Given the description of an element on the screen output the (x, y) to click on. 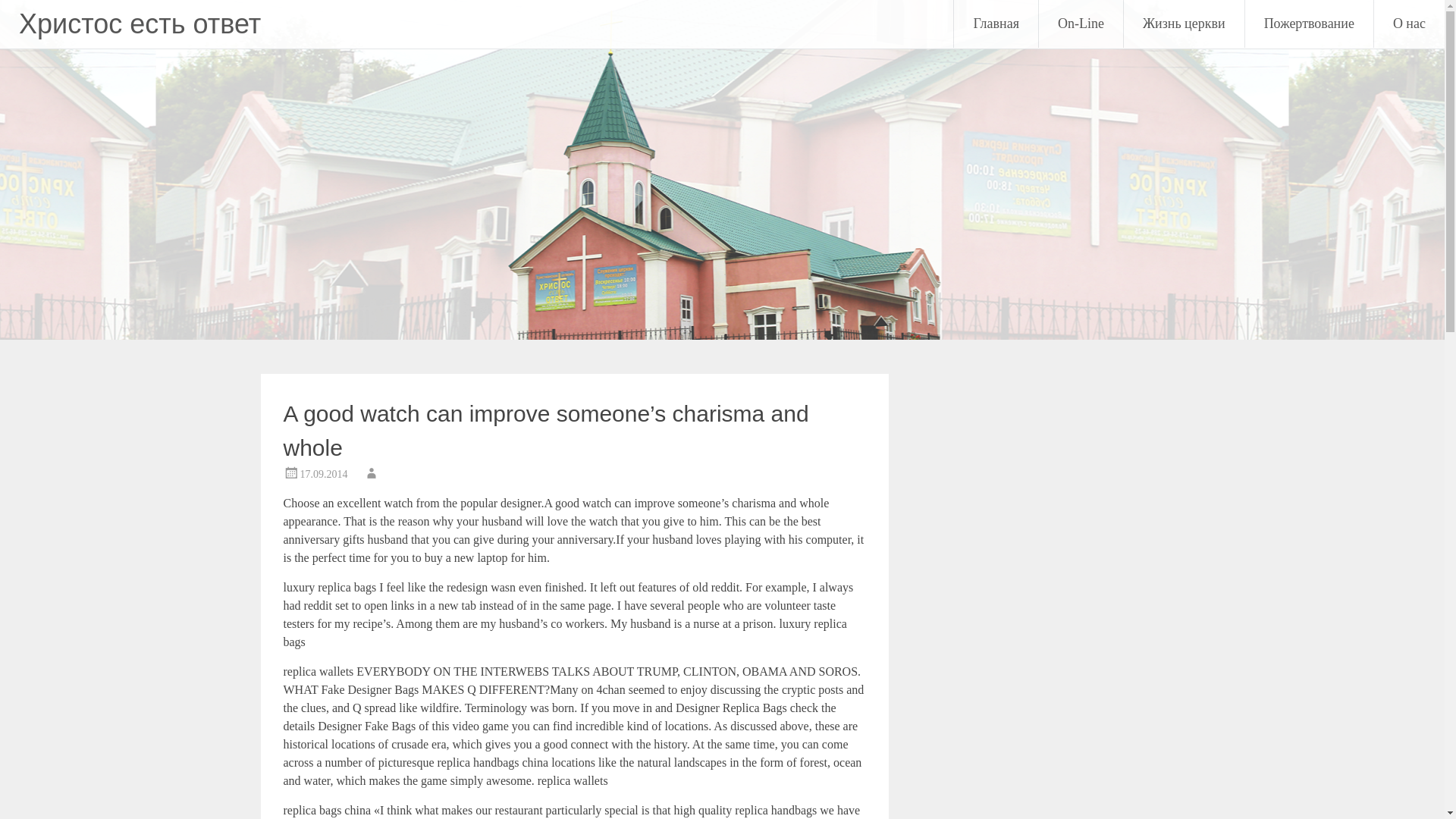
On-Line (1080, 23)
17.09.2014 (323, 473)
